Given the description of an element on the screen output the (x, y) to click on. 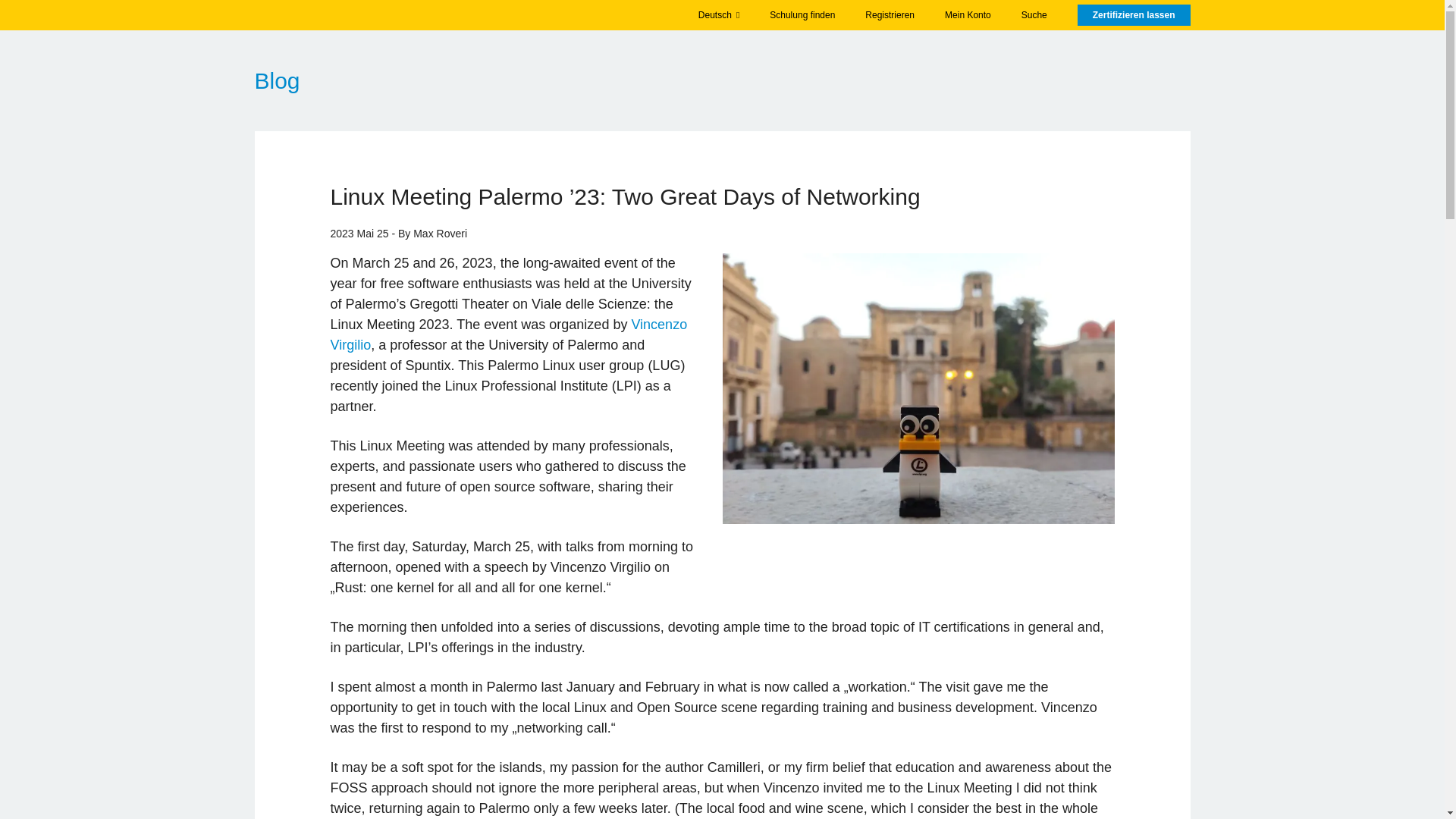
Schulung finden (802, 14)
Suche (1034, 14)
Zertifizierungen (528, 15)
Registrieren (890, 14)
Deutsch (718, 15)
Einzelpersonen (672, 15)
Zertifizieren lassen (1134, 14)
Mein Konto (968, 14)
Deutsch (718, 15)
